Given the description of an element on the screen output the (x, y) to click on. 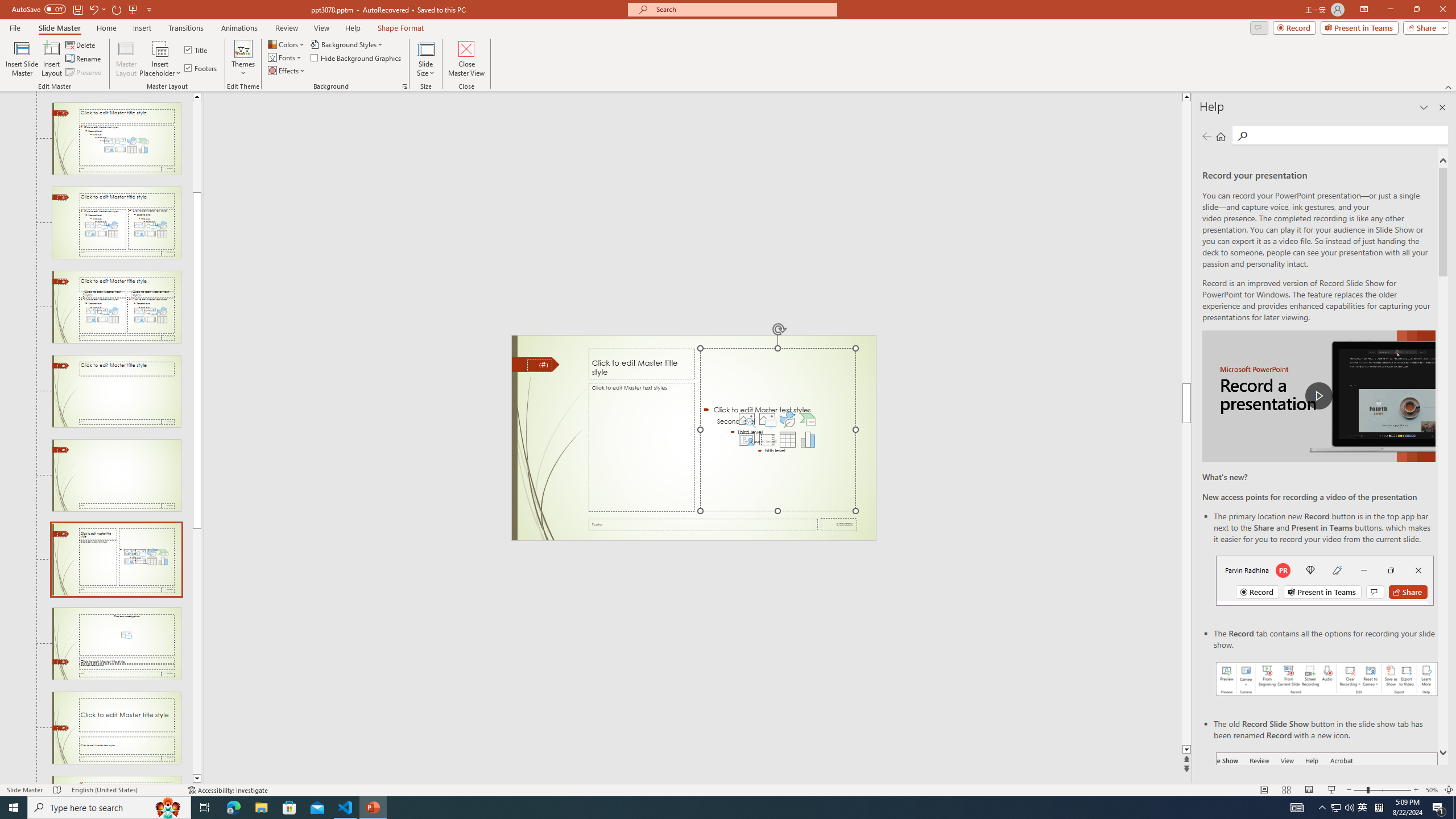
Slide Blank Layout: used by no slides (116, 475)
Slide Title and Caption Layout: used by no slides (116, 728)
Effects (287, 69)
Background Styles (347, 44)
Content (160, 48)
Slide Picture with Caption Layout: used by no slides (116, 643)
